Given the description of an element on the screen output the (x, y) to click on. 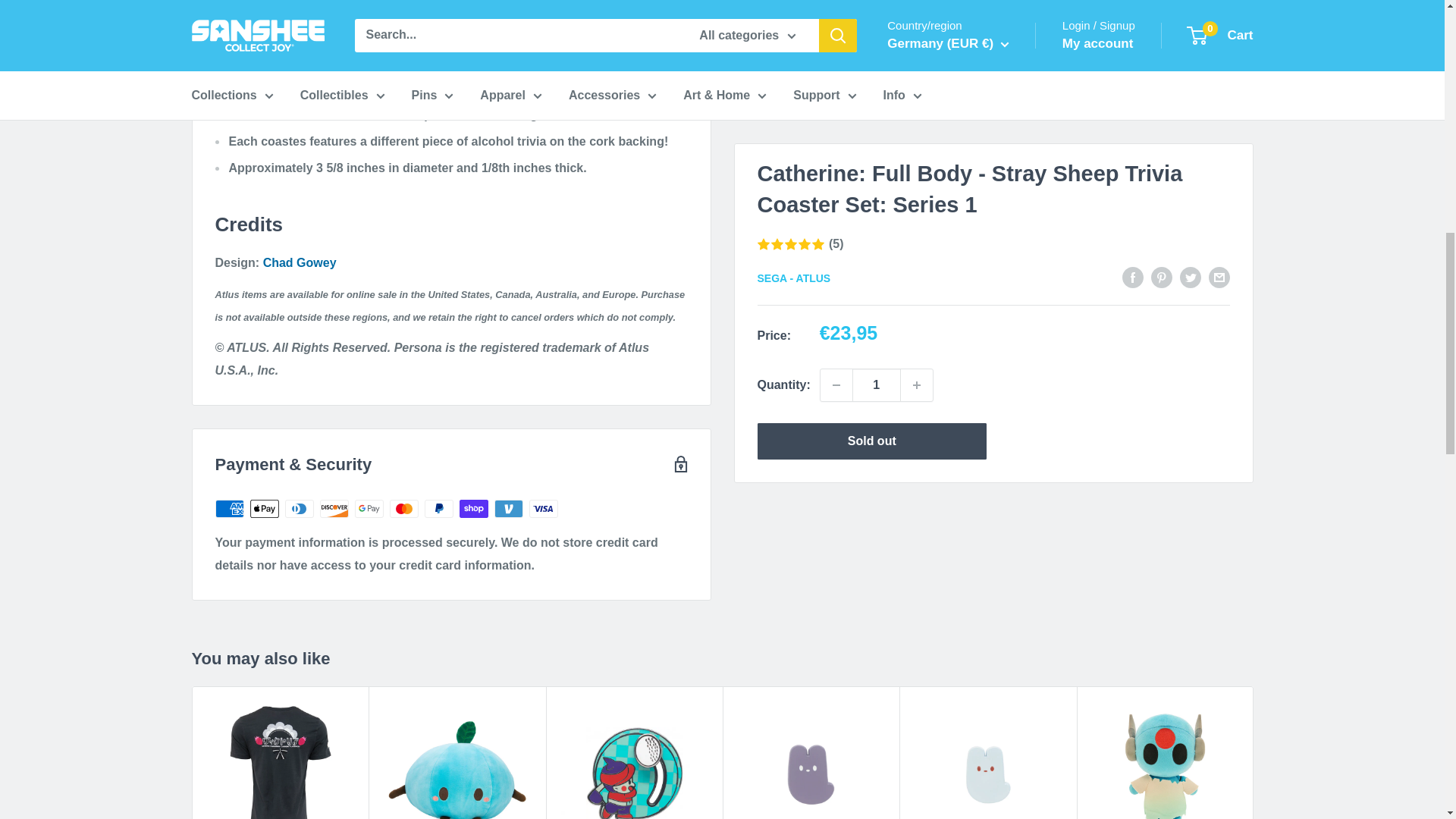
Official Atlus Collection (491, 88)
